Given the description of an element on the screen output the (x, y) to click on. 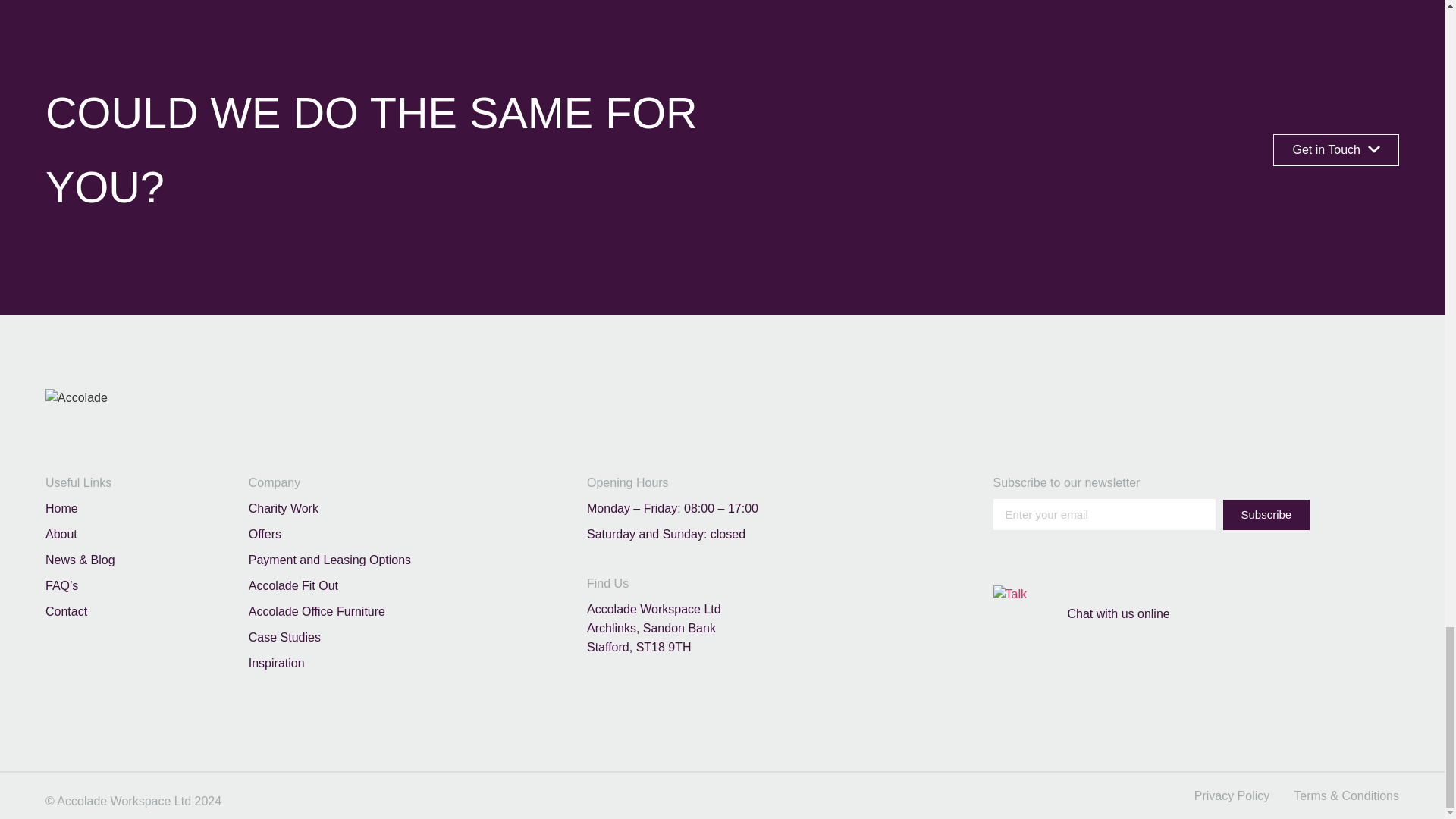
FCE35856-30EA-4C37-A59F-CEA347665716 (1374, 149)
About (1335, 150)
Home (135, 533)
Contact (135, 507)
